Given the description of an element on the screen output the (x, y) to click on. 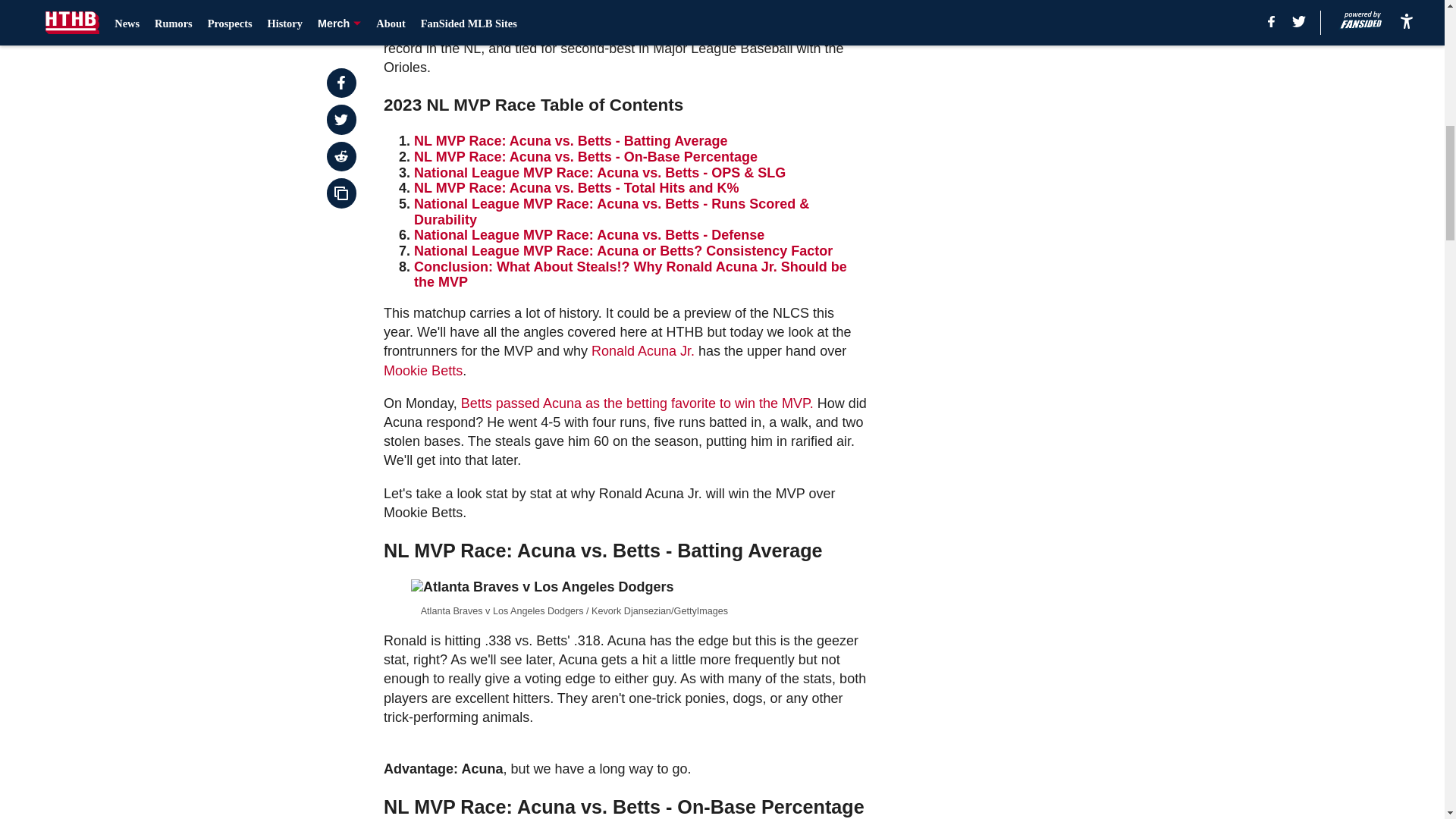
National League MVP Race: Acuna vs. Betts - Defense (588, 234)
NL MVP Race: Acuna vs. Betts - On-Base Percentage (585, 156)
National League MVP Race: Acuna or Betts? Consistency Factor (622, 250)
NL MVP Race: Acuna vs. Betts - Batting Average (569, 140)
